Given the description of an element on the screen output the (x, y) to click on. 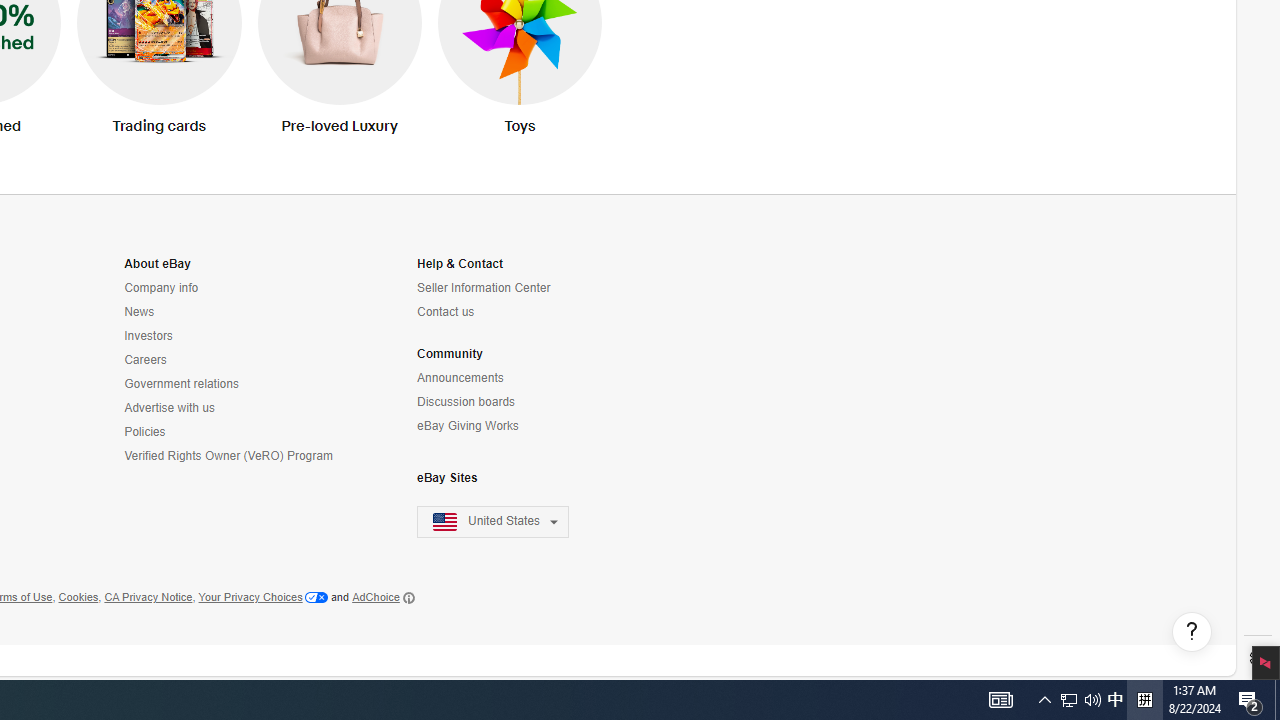
Government relations (181, 384)
Investors (148, 335)
Discussion boards (466, 402)
Discussion boards (505, 402)
CA Privacy Notice (148, 597)
About eBay (157, 263)
Policies (145, 432)
Verified Rights Owner (VeRO) Program (228, 456)
Cookies (77, 597)
eBay sites,United States (493, 522)
United States (505, 522)
Advertise with us (230, 407)
Seller Information Center (505, 288)
Company info (161, 288)
